Given the description of an element on the screen output the (x, y) to click on. 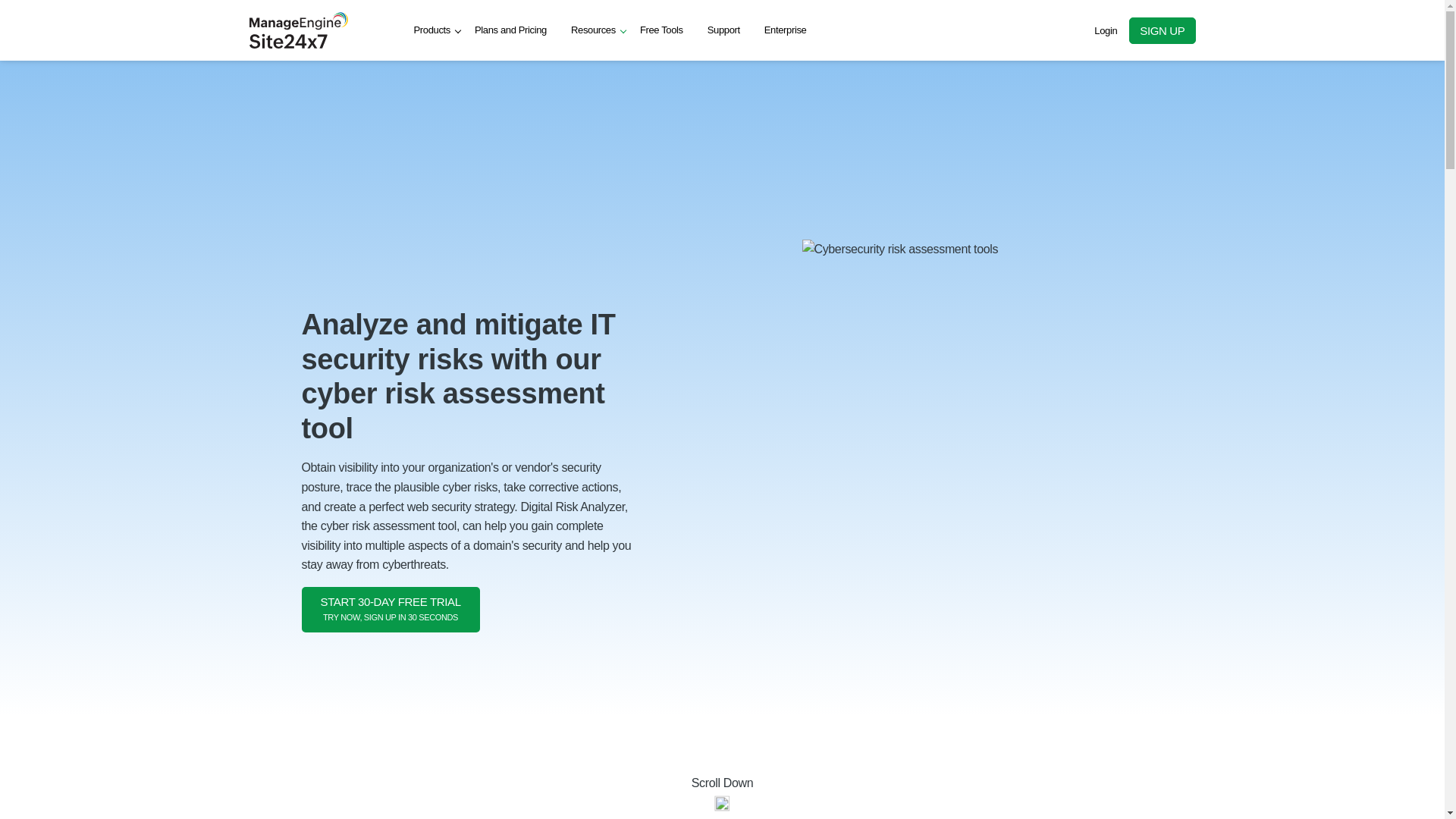
Support (390, 609)
Scroll Down (723, 29)
Products (721, 794)
Login (432, 29)
Resources (1105, 29)
Login (593, 29)
Free Tools (1105, 29)
Plans and Pricing (661, 29)
Enterprise (511, 29)
SIGN UP (785, 29)
